Given the description of an element on the screen output the (x, y) to click on. 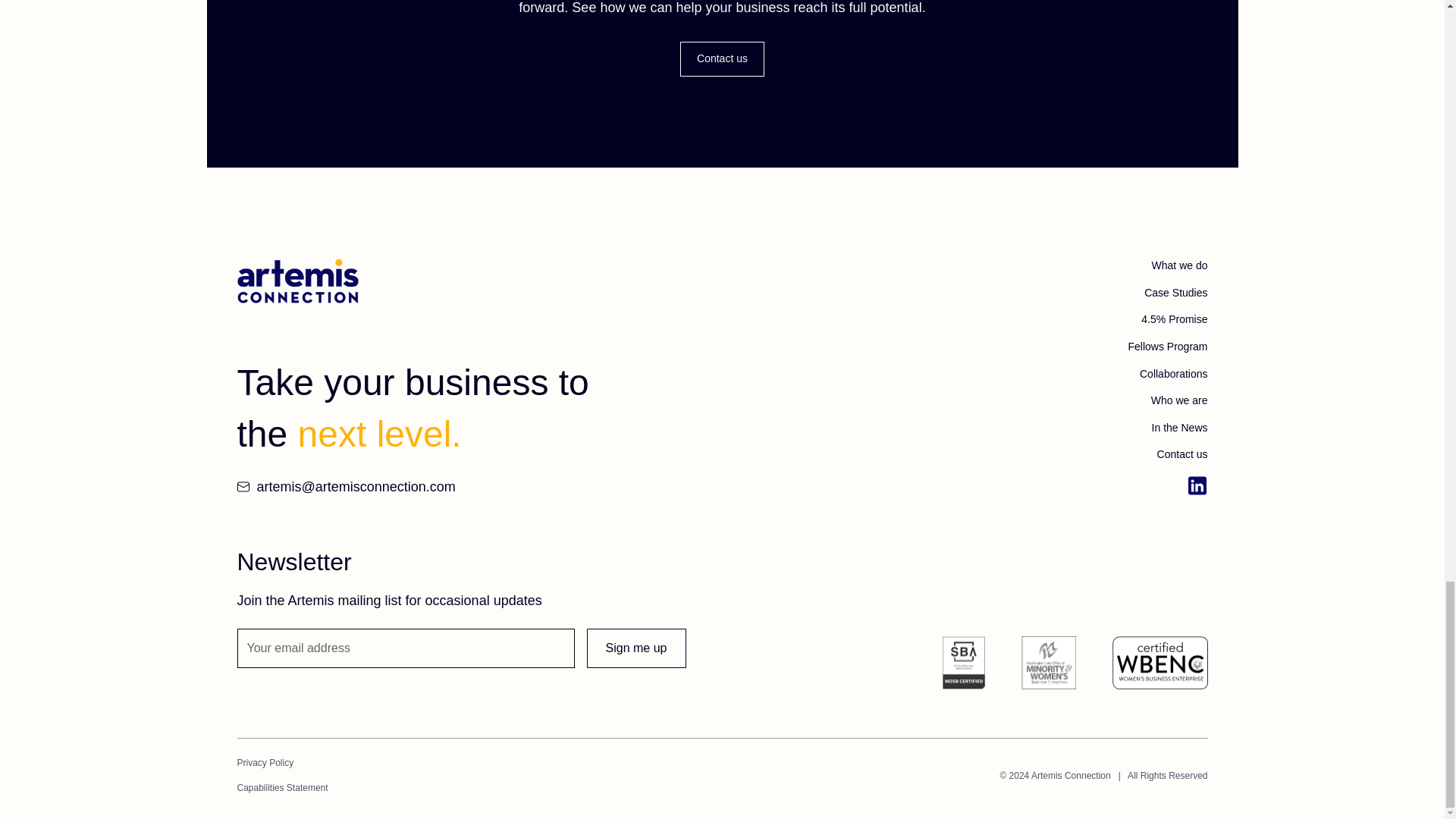
Collaborations (1174, 374)
Privacy Policy (281, 762)
Case Studies (1175, 293)
In the News (1179, 427)
What we do (1179, 265)
Capabilities Statement (281, 788)
Sign me up (635, 648)
Fellows Program (1166, 346)
Contact us (1182, 454)
Contact us (721, 58)
